Given the description of an element on the screen output the (x, y) to click on. 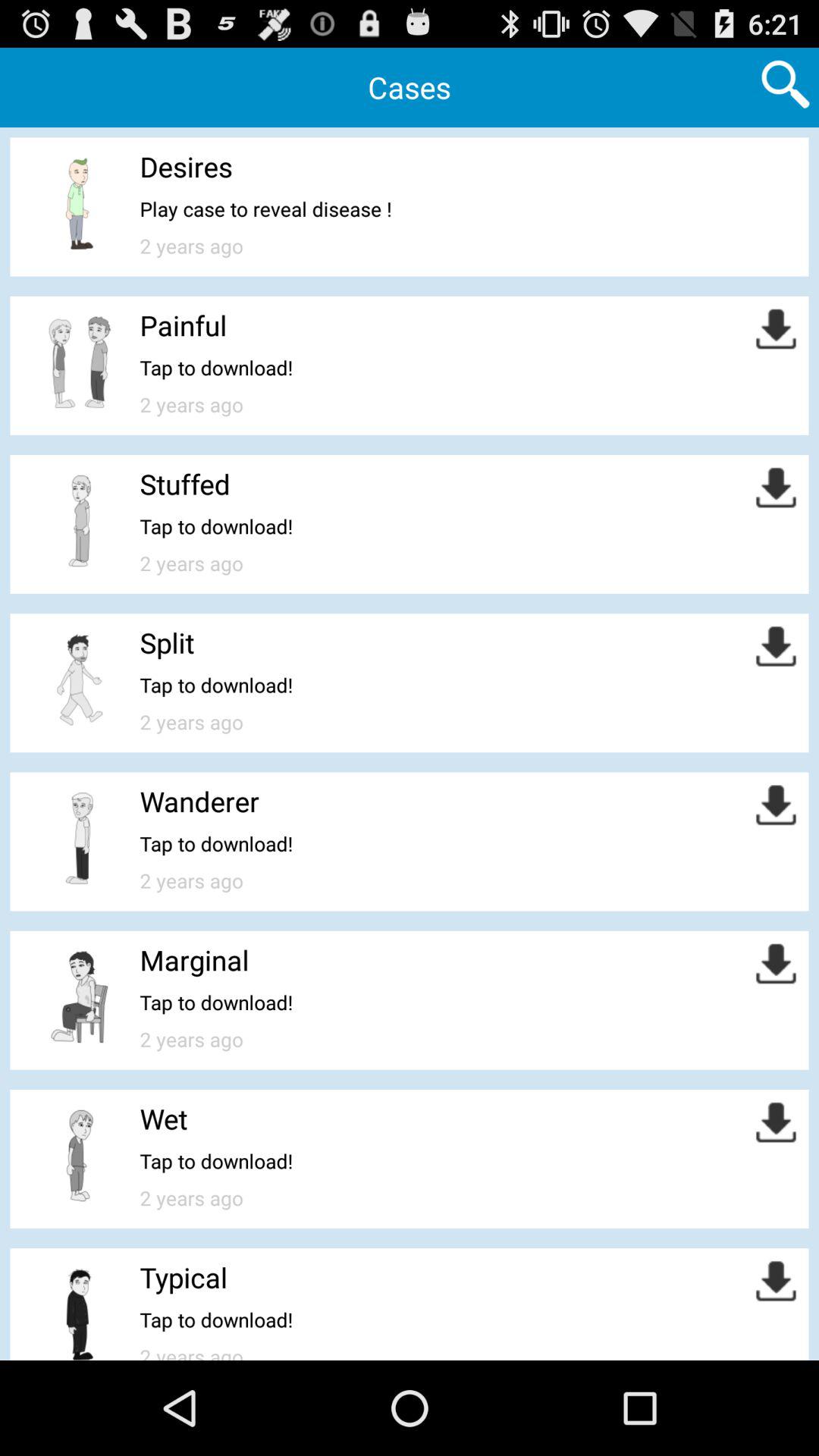
tap desires icon (185, 166)
